Given the description of an element on the screen output the (x, y) to click on. 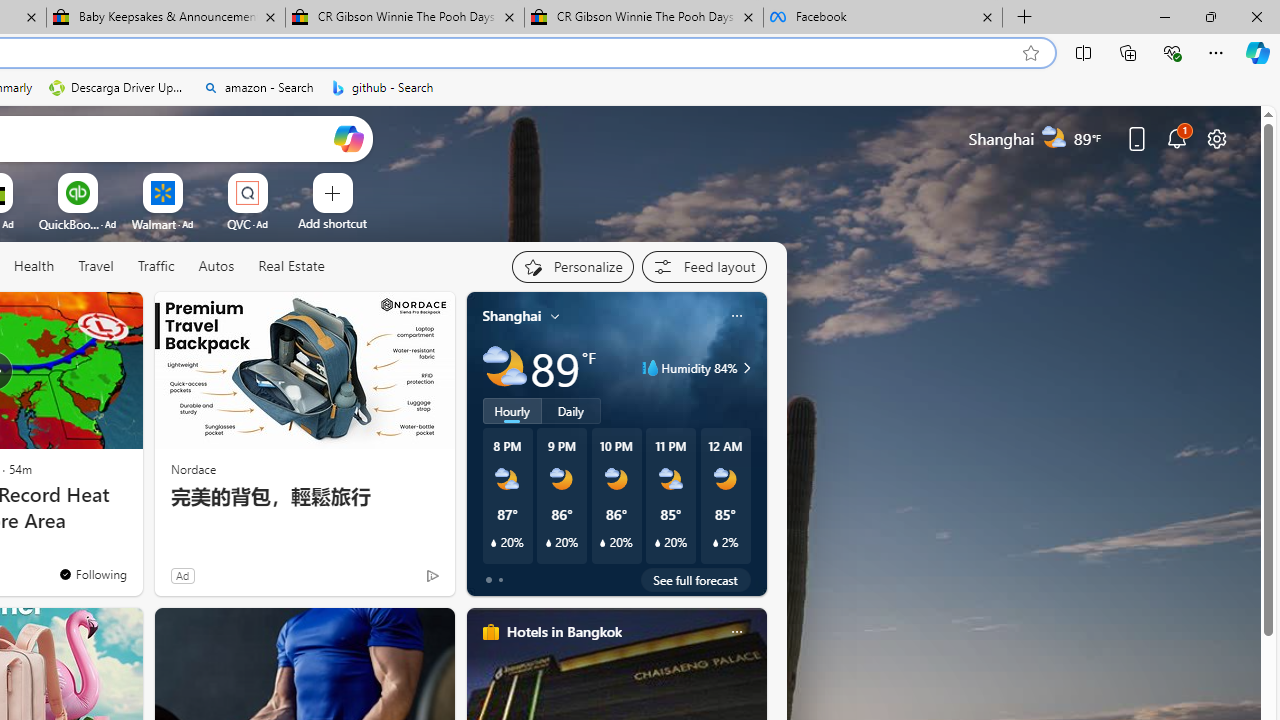
hotels-header-icon (490, 632)
Hotels in Bangkok (563, 631)
Personalize your feed" (571, 266)
Hourly (511, 411)
